Given the description of an element on the screen output the (x, y) to click on. 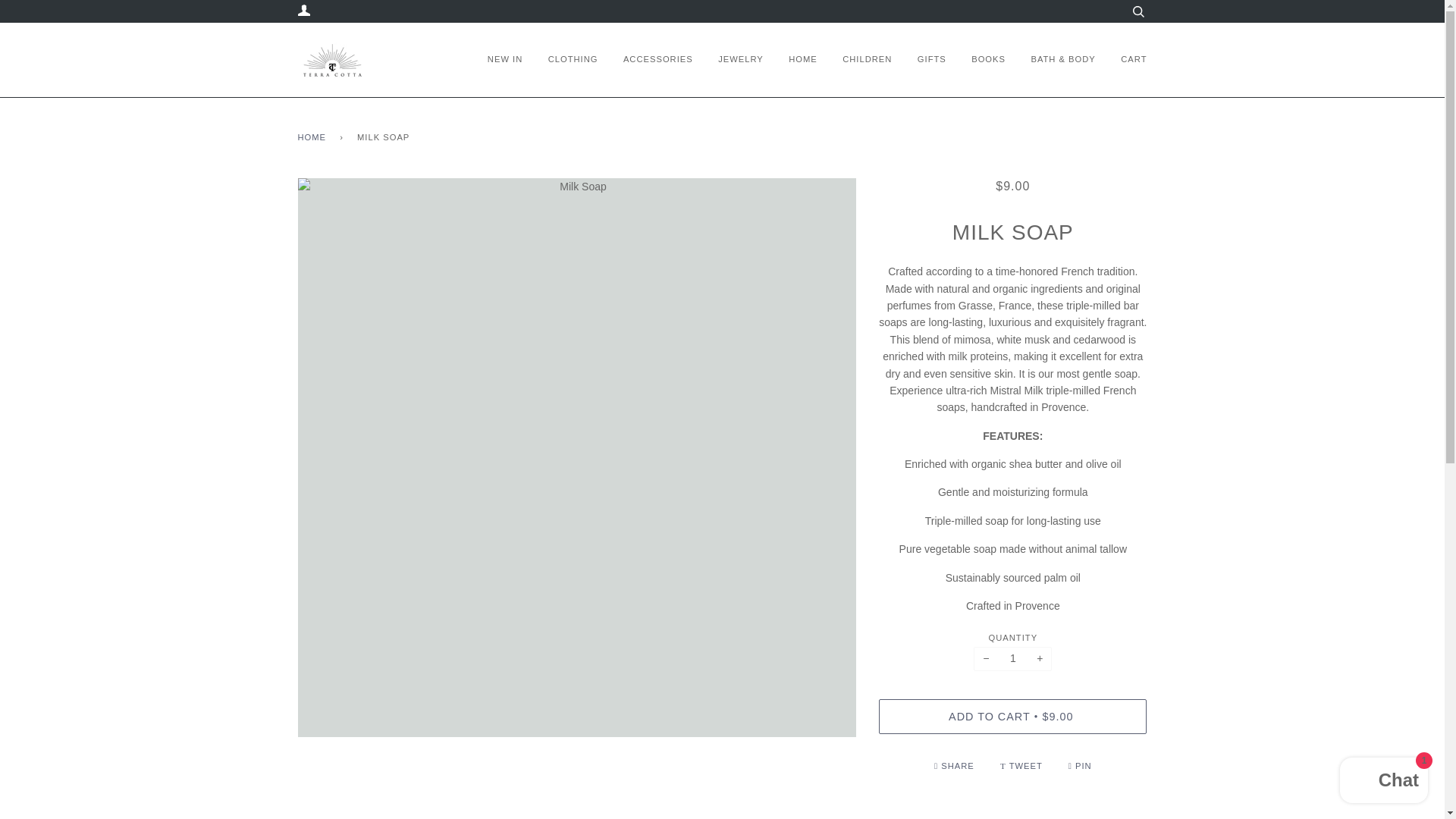
Back to the frontpage (314, 137)
ACCESSORIES (658, 59)
Shopify online store chat (1383, 781)
1 (1012, 658)
